Given the description of an element on the screen output the (x, y) to click on. 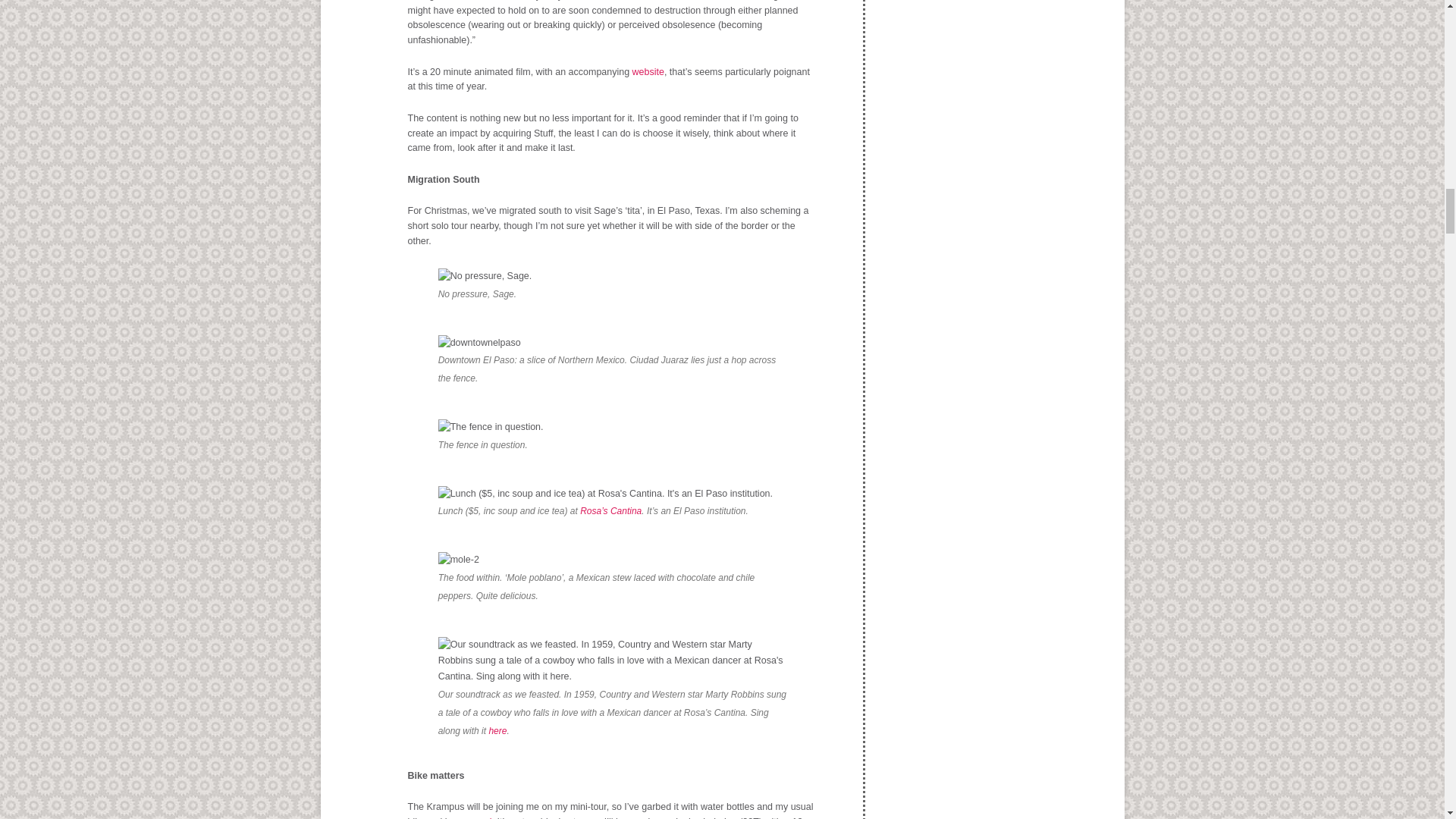
website (647, 71)
here (496, 730)
apparel (476, 817)
